Given the description of an element on the screen output the (x, y) to click on. 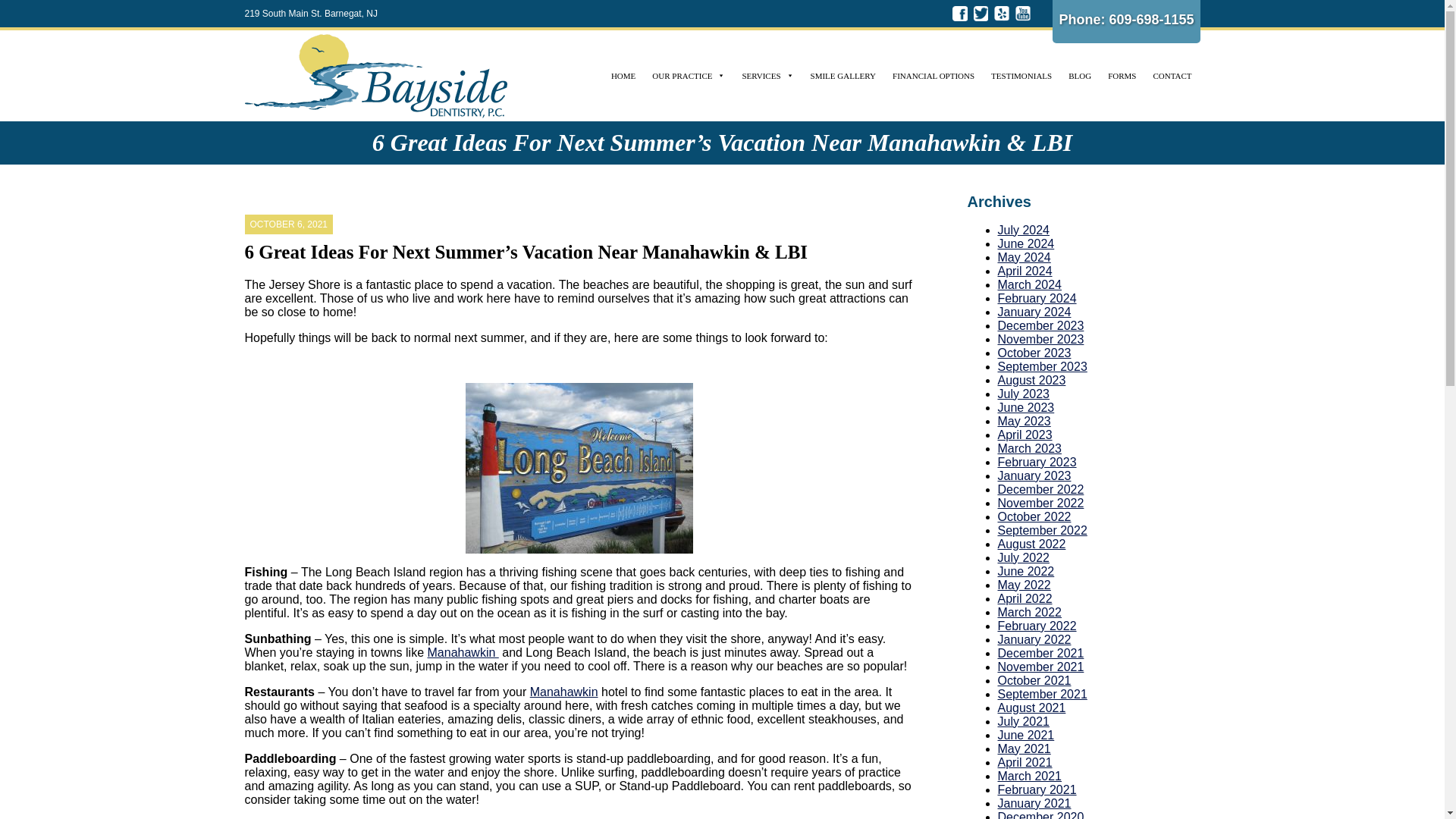
Barnegat Dentistry Barnegat Manahawkin Dentist Twitter (981, 13)
Manahawkin (563, 691)
Barnegat Dentistry Barnegat Manahawkin Dentist Youtube (1022, 13)
BLOG (1079, 75)
OUR PRACTICE (688, 75)
SERVICES (767, 75)
TESTIMONIALS (1020, 75)
Barnegat Dentistry Barnegat Manahawkin Dentist Yelp (1001, 13)
Barnegat Dentistry Barnegat Manahawkin Dentist Facebook (960, 13)
FORMS (1121, 75)
Manahawkin (463, 652)
CONTACT (1171, 75)
HOME (622, 75)
